Given the description of an element on the screen output the (x, y) to click on. 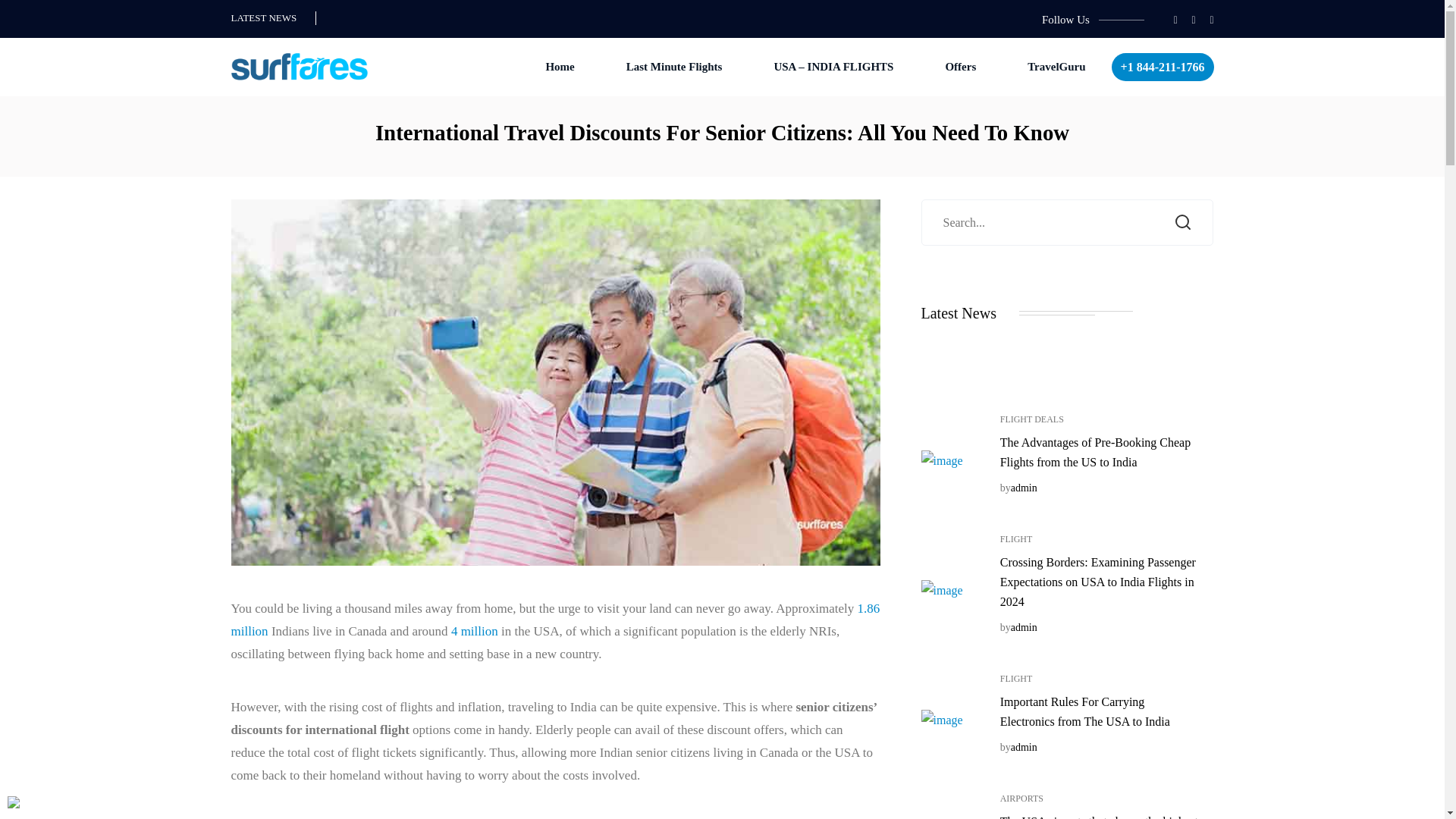
Last Minute Flights (673, 67)
admin (1023, 488)
4 million (474, 631)
FLIGHT DEALS (1032, 418)
1.86 million (554, 619)
TravelGuru (1055, 67)
Home (559, 67)
Offers (959, 67)
